Given the description of an element on the screen output the (x, y) to click on. 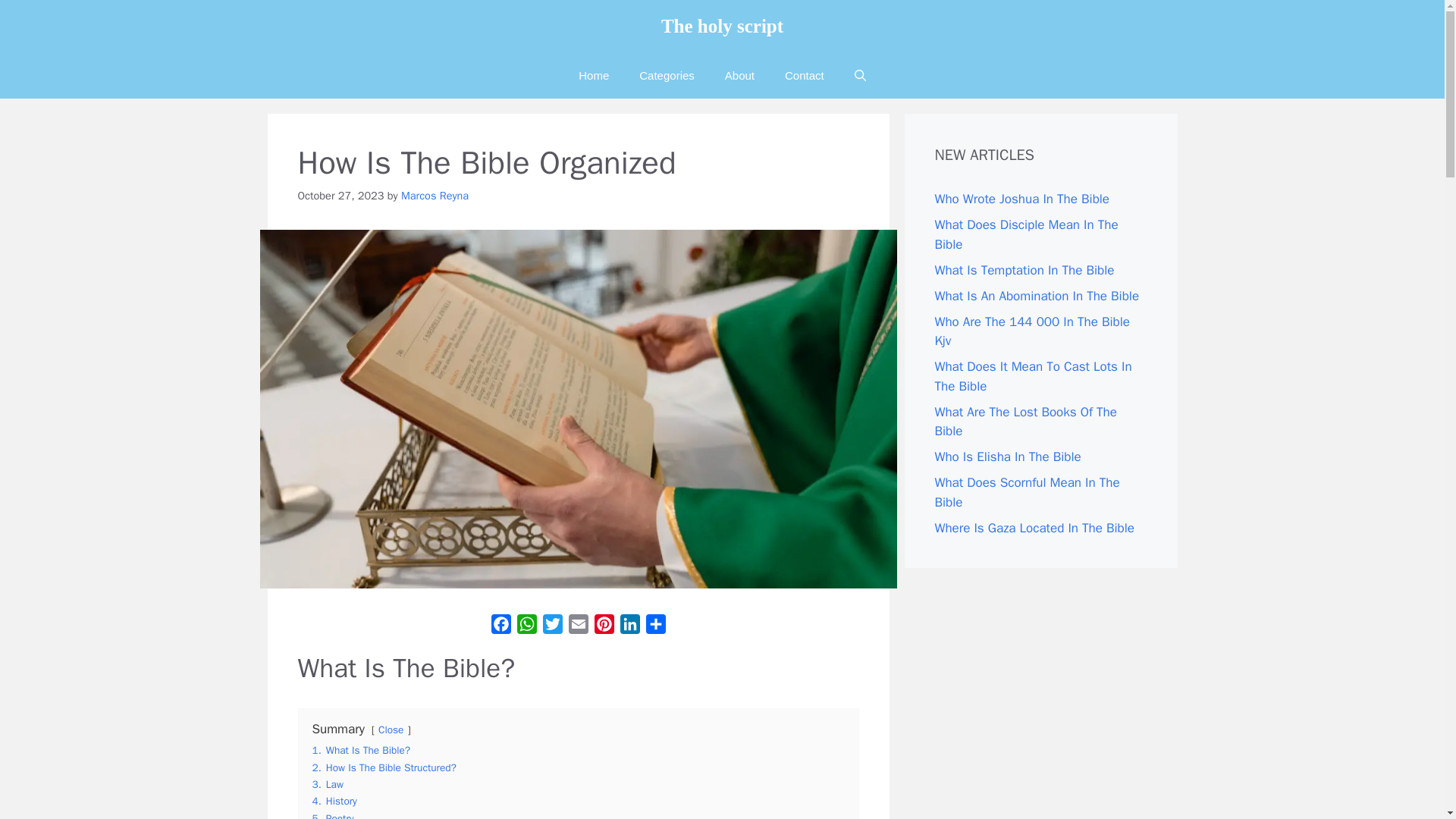
Categories (667, 75)
Facebook (500, 626)
Home (593, 75)
Marcos Reyna (434, 195)
Twitter (553, 626)
Twitter (553, 626)
5. Poetry (333, 815)
Close (390, 729)
About (740, 75)
WhatsApp (526, 626)
